Given the description of an element on the screen output the (x, y) to click on. 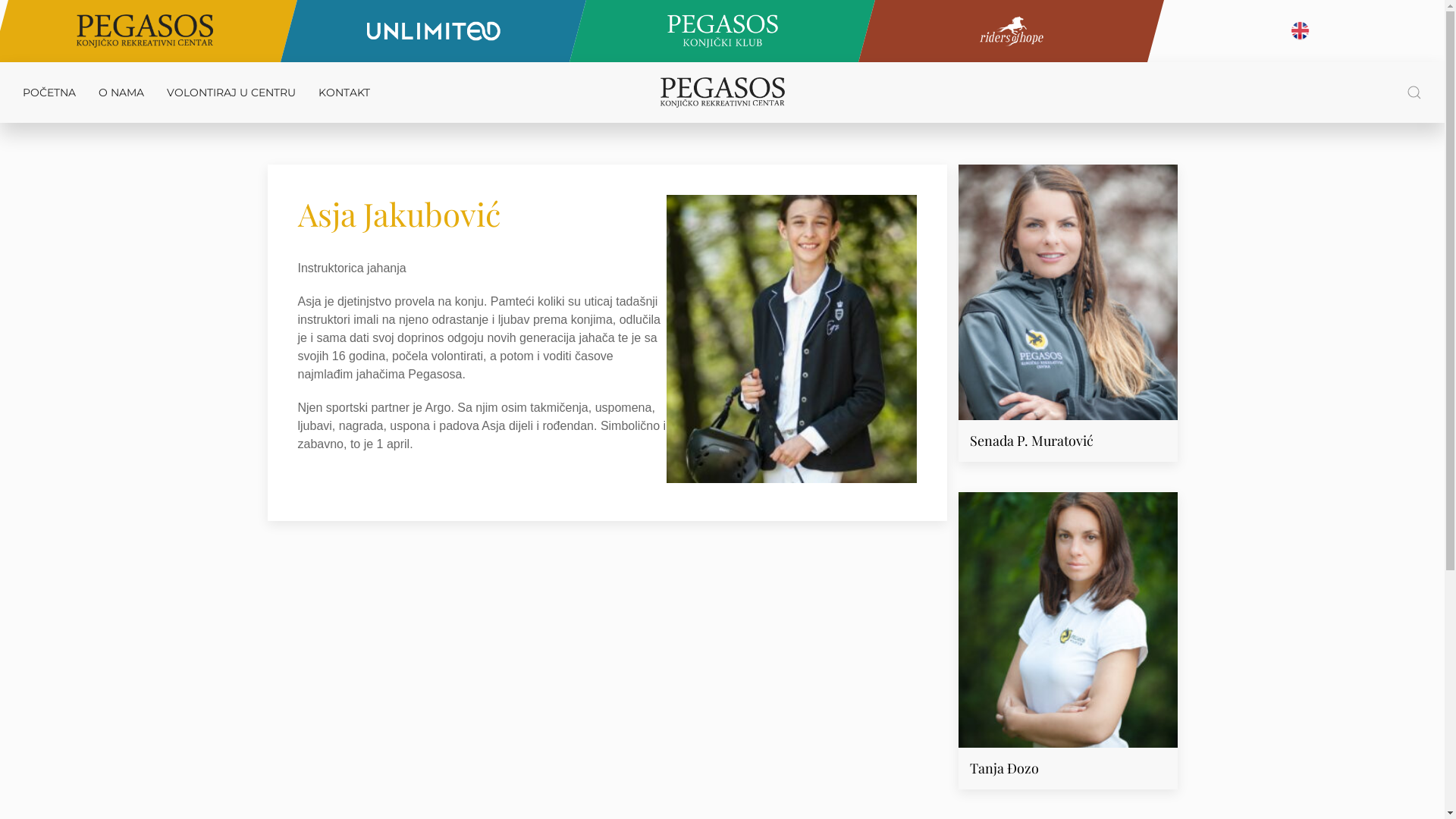
VOLONTIRAJ U CENTRU Element type: text (231, 92)
KONTAKT Element type: text (344, 92)
O NAMA Element type: text (121, 92)
